Given the description of an element on the screen output the (x, y) to click on. 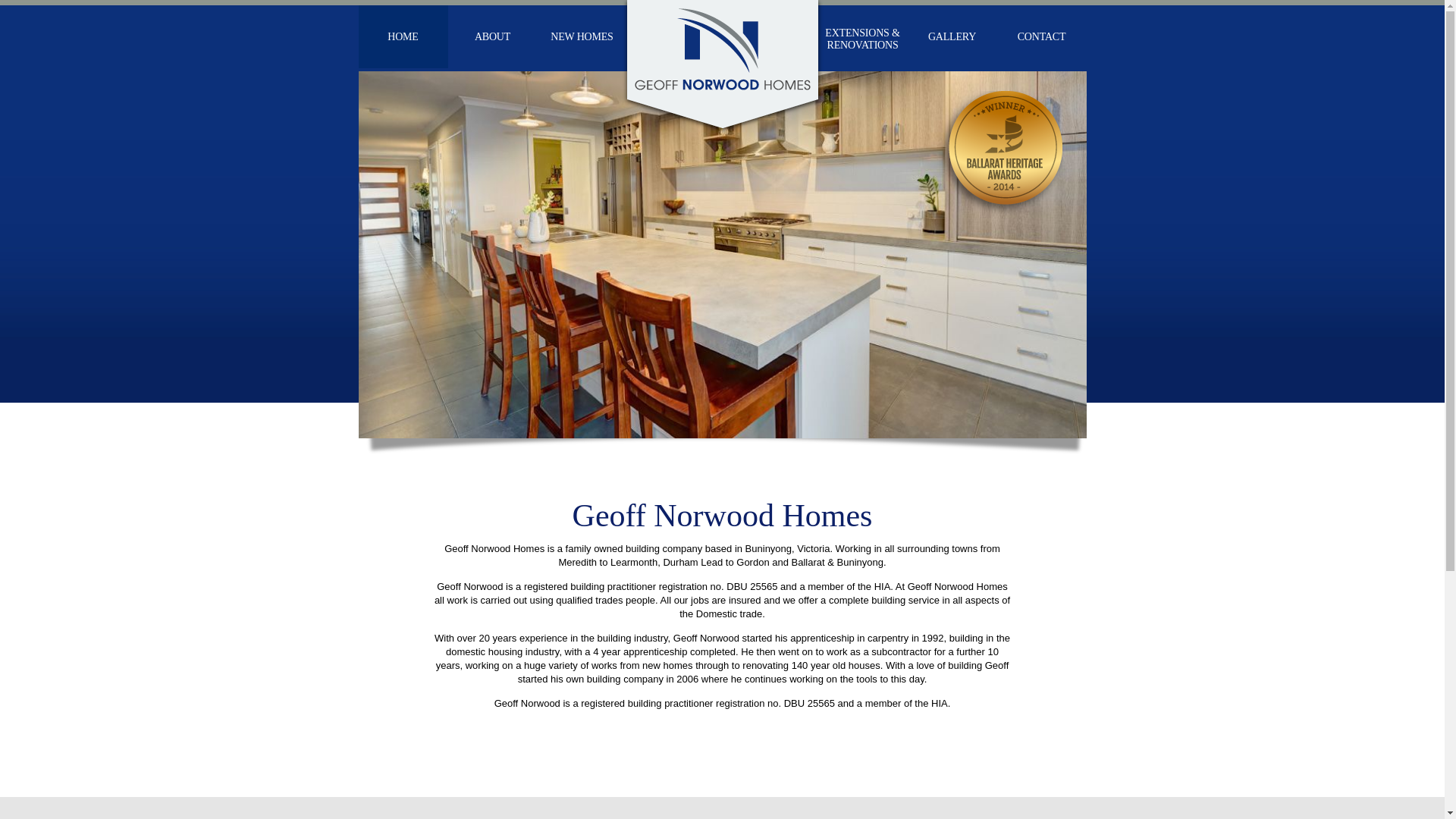
CONTACT Element type: text (1040, 36)
ABOUT Element type: text (491, 36)
HOME Element type: text (402, 36)
NEW HOMES Element type: text (581, 36)
GALLERY Element type: text (951, 36)
EXTENSIONS & RENOVATIONS Element type: text (861, 36)
